Given the description of an element on the screen output the (x, y) to click on. 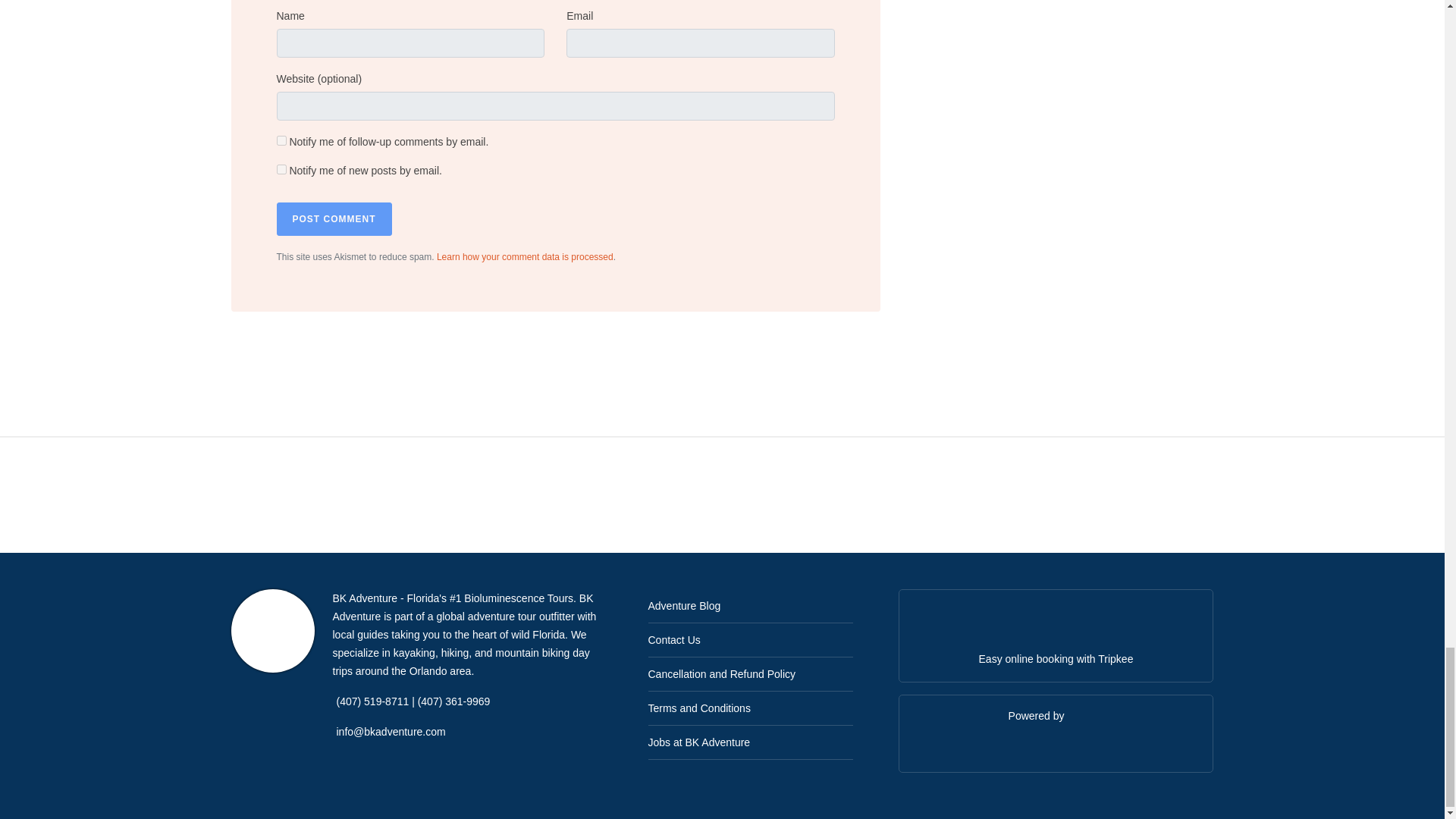
subscribe (280, 169)
subscribe (280, 140)
Post Comment (333, 218)
